Given the description of an element on the screen output the (x, y) to click on. 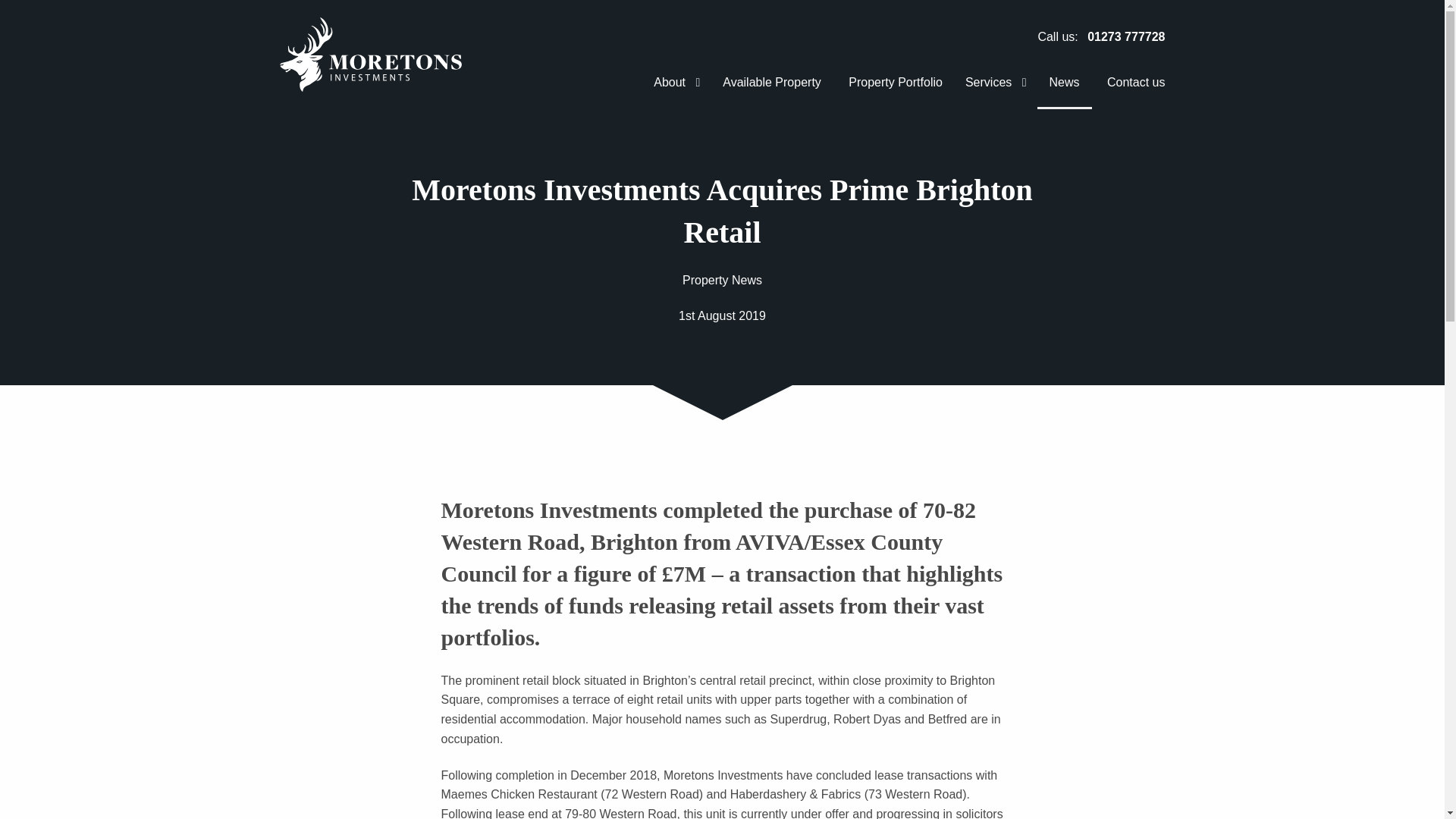
Contact us (1129, 83)
Moretons Investments (370, 54)
News (1064, 83)
Property Portfolio (895, 83)
About (676, 83)
Available Property (771, 83)
Services (995, 83)
01273 777728 (1125, 36)
